Given the description of an element on the screen output the (x, y) to click on. 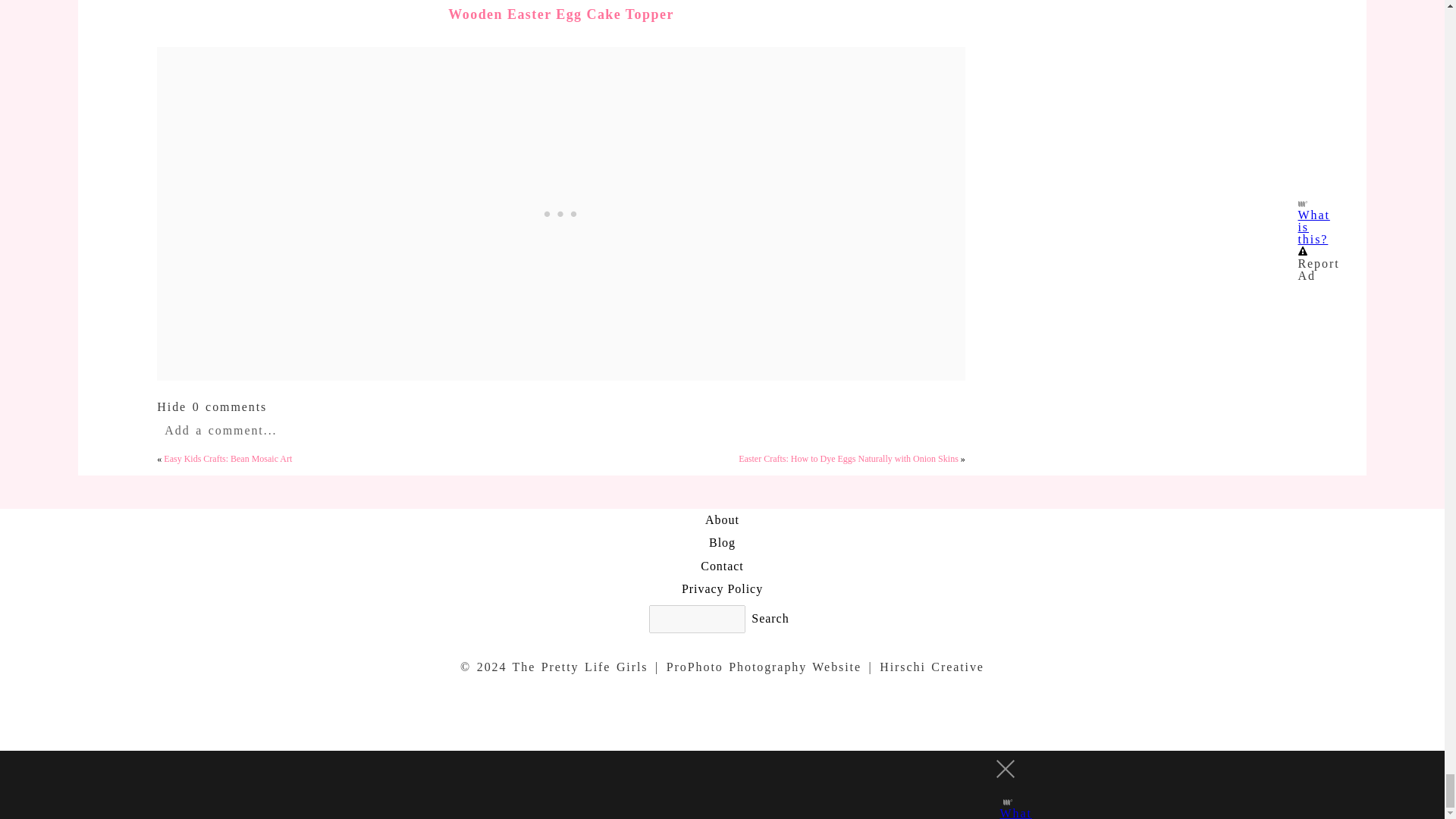
ProPhoto Photo Website (763, 666)
Search (770, 618)
Search (770, 618)
